Given the description of an element on the screen output the (x, y) to click on. 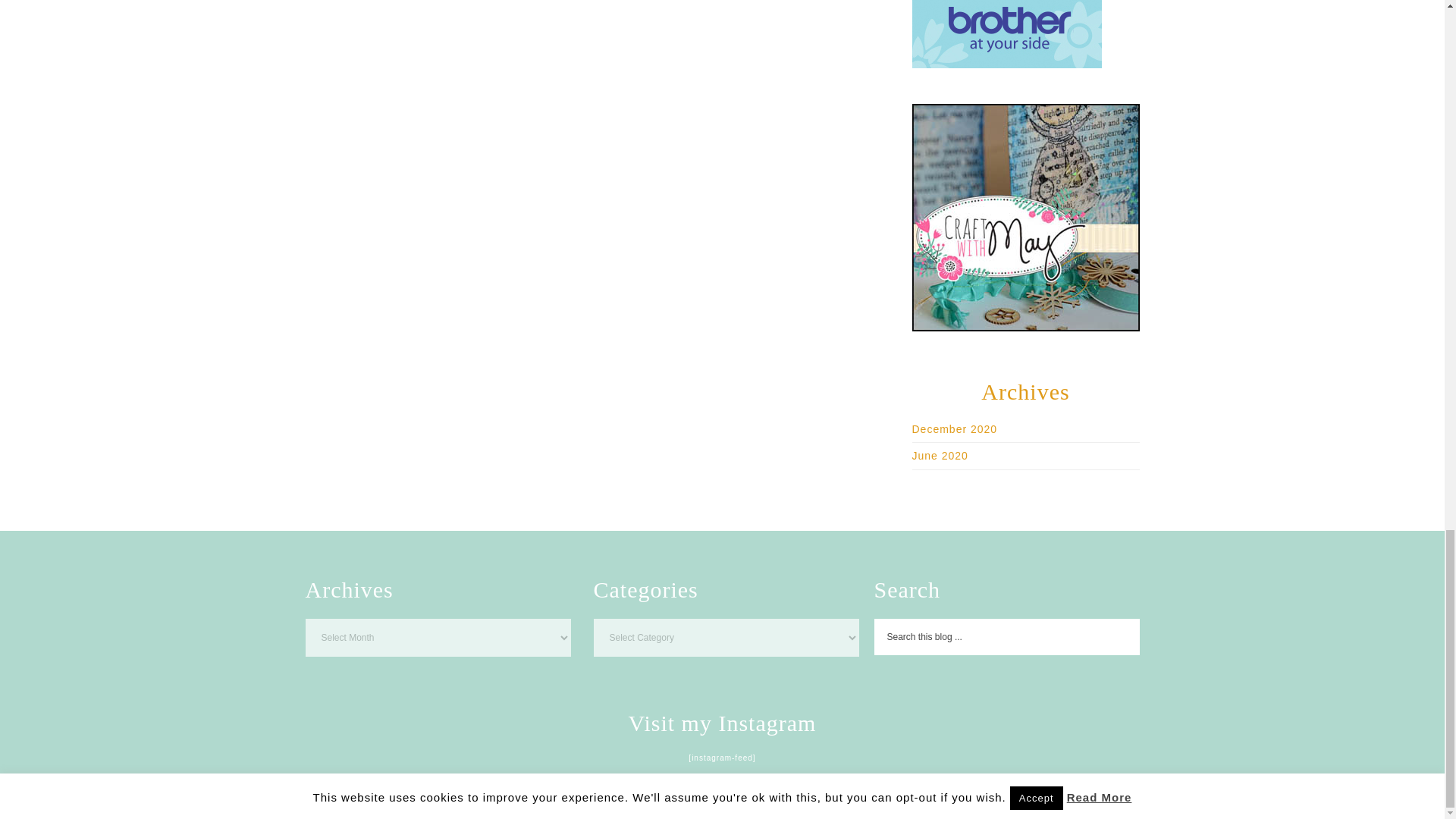
Designer Blogs (836, 788)
June 2020 (939, 455)
December 2020 (954, 428)
